Given the description of an element on the screen output the (x, y) to click on. 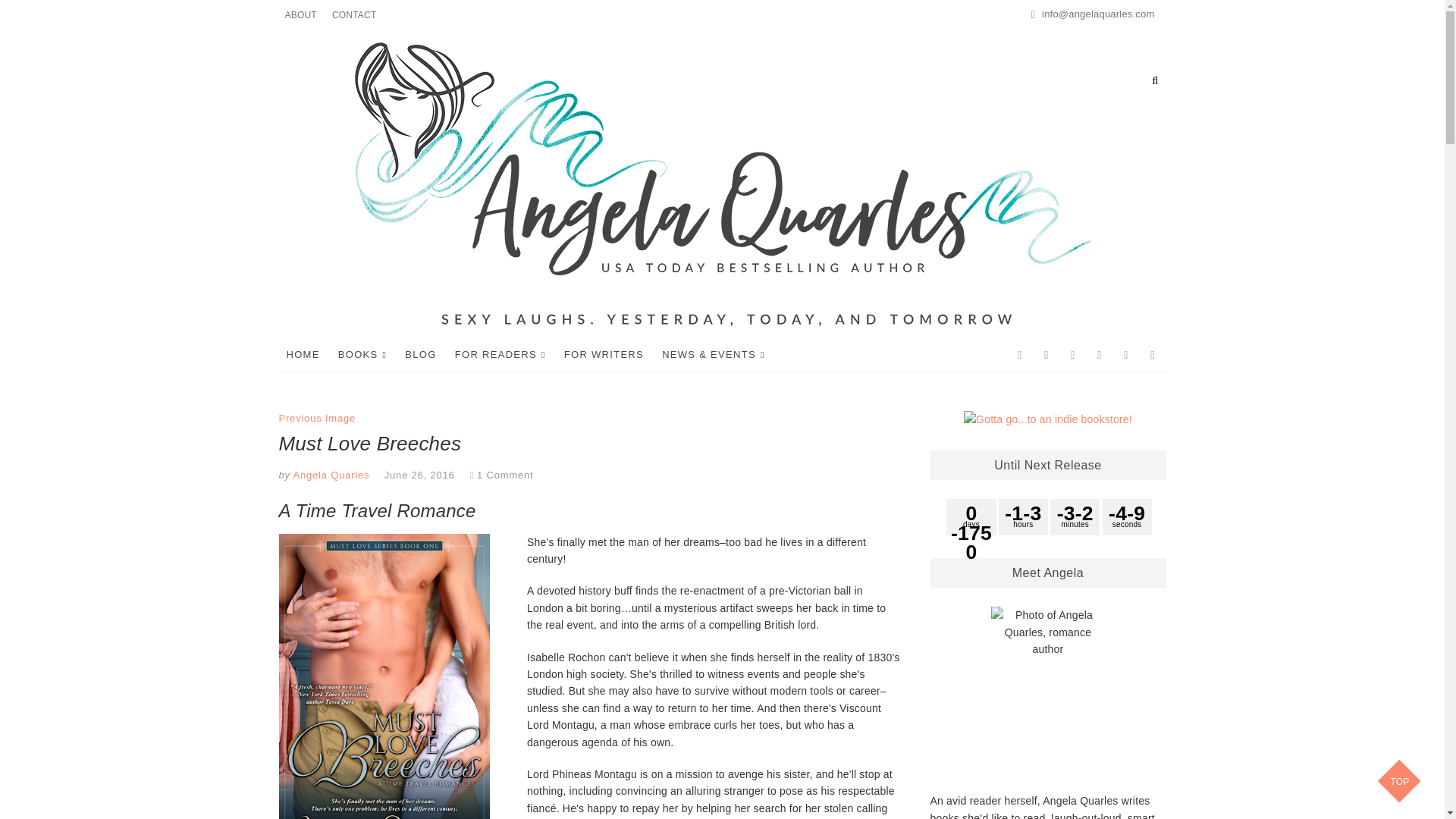
Angela Quarles (329, 474)
9:59 pm (419, 474)
Pinterest (1126, 355)
FOR READERS (499, 354)
Goodreads (1072, 355)
CONTACT (354, 15)
ABOUT (301, 15)
GooglePlus (1099, 355)
Twitter (1045, 355)
HOME (303, 354)
